Given the description of an element on the screen output the (x, y) to click on. 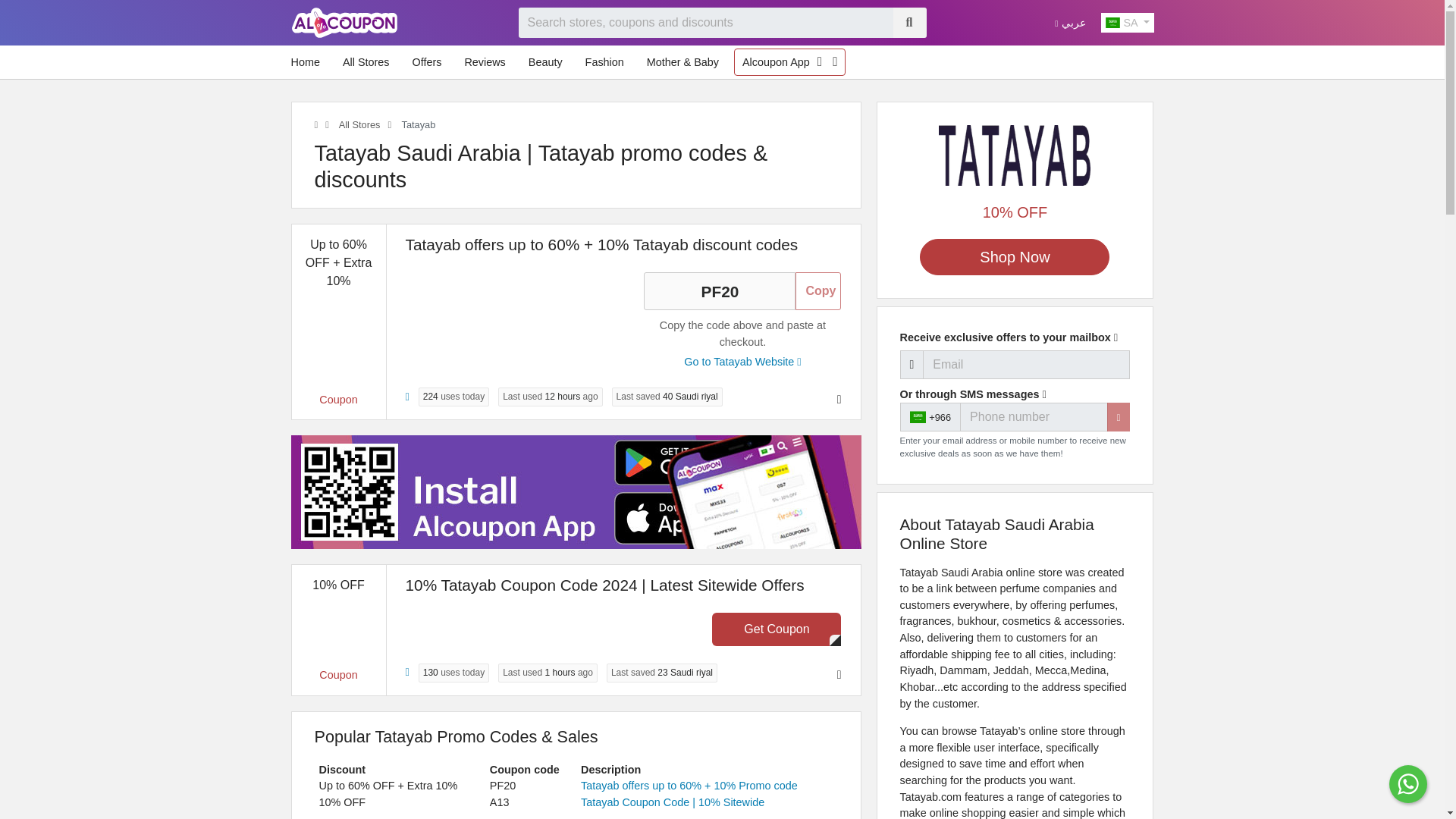
Beauty (545, 61)
Go to Tatayab Website (742, 361)
Select another country (1126, 22)
Home (309, 61)
Offers (426, 61)
SA (1126, 22)
All Stores (365, 61)
All Stores (358, 124)
sa Go to Arabic Interface (1069, 22)
Home Page (344, 21)
Search (909, 22)
Coupons App on Google Play (819, 62)
Online discount codes and Coupons in Saudi Arabia (315, 124)
All Coupons and deals for Saudi Arabia stores (358, 124)
Coupons App for iPhone on App Store (834, 62)
